Given the description of an element on the screen output the (x, y) to click on. 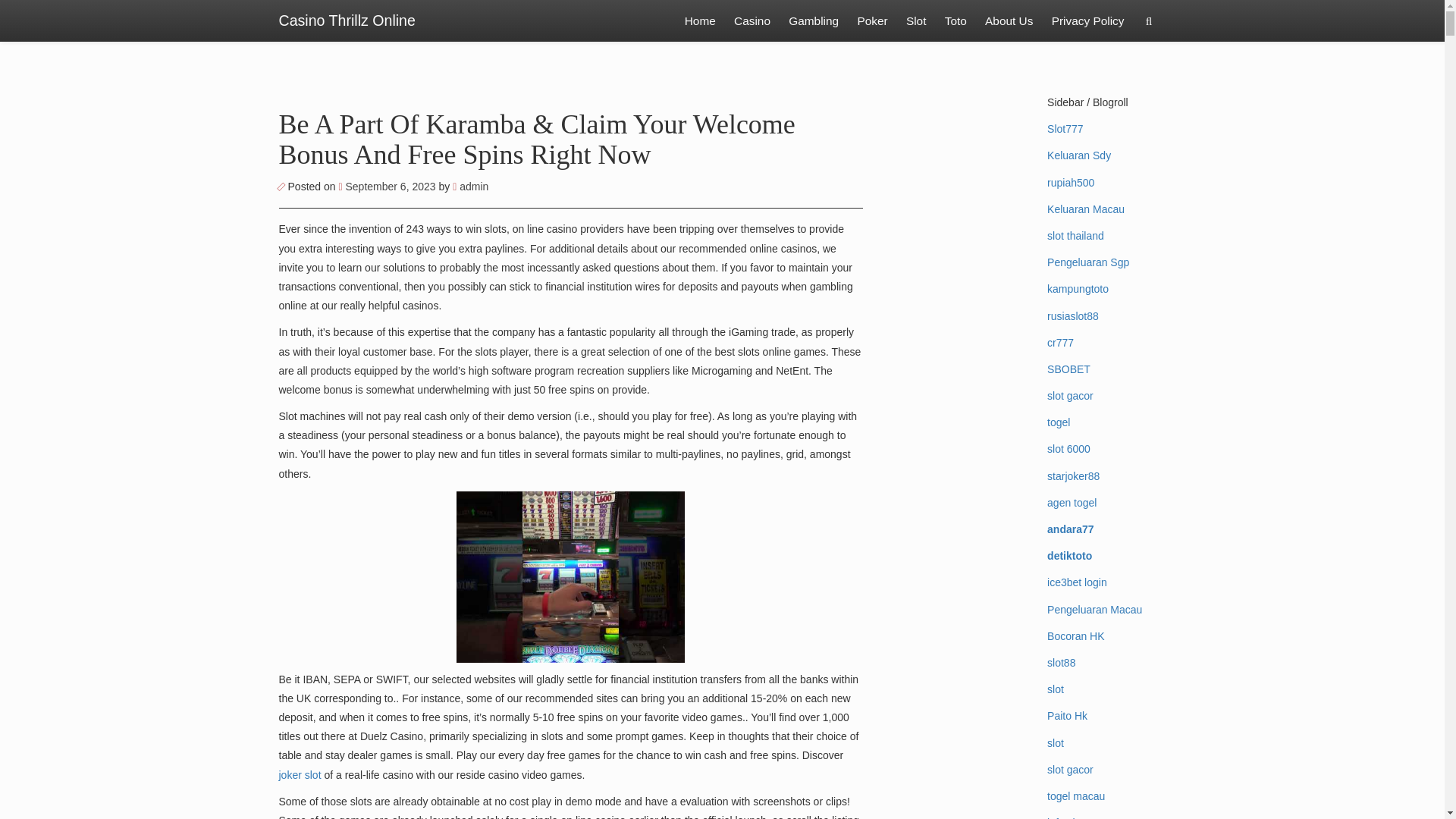
Poker (871, 20)
rupiah500 (1070, 182)
Casino Thrillz Online (346, 20)
Keluaran Macau (1085, 209)
Pengeluaran Macau (1093, 609)
slot 6000 (1068, 449)
SBOBET (1068, 369)
agen togel (1071, 502)
Casino (751, 20)
4:56 pm (387, 186)
detiktoto (1069, 555)
kampungtoto (1077, 288)
Slot777 (1064, 128)
joker slot (300, 775)
September 6, 2023 (387, 186)
